Given the description of an element on the screen output the (x, y) to click on. 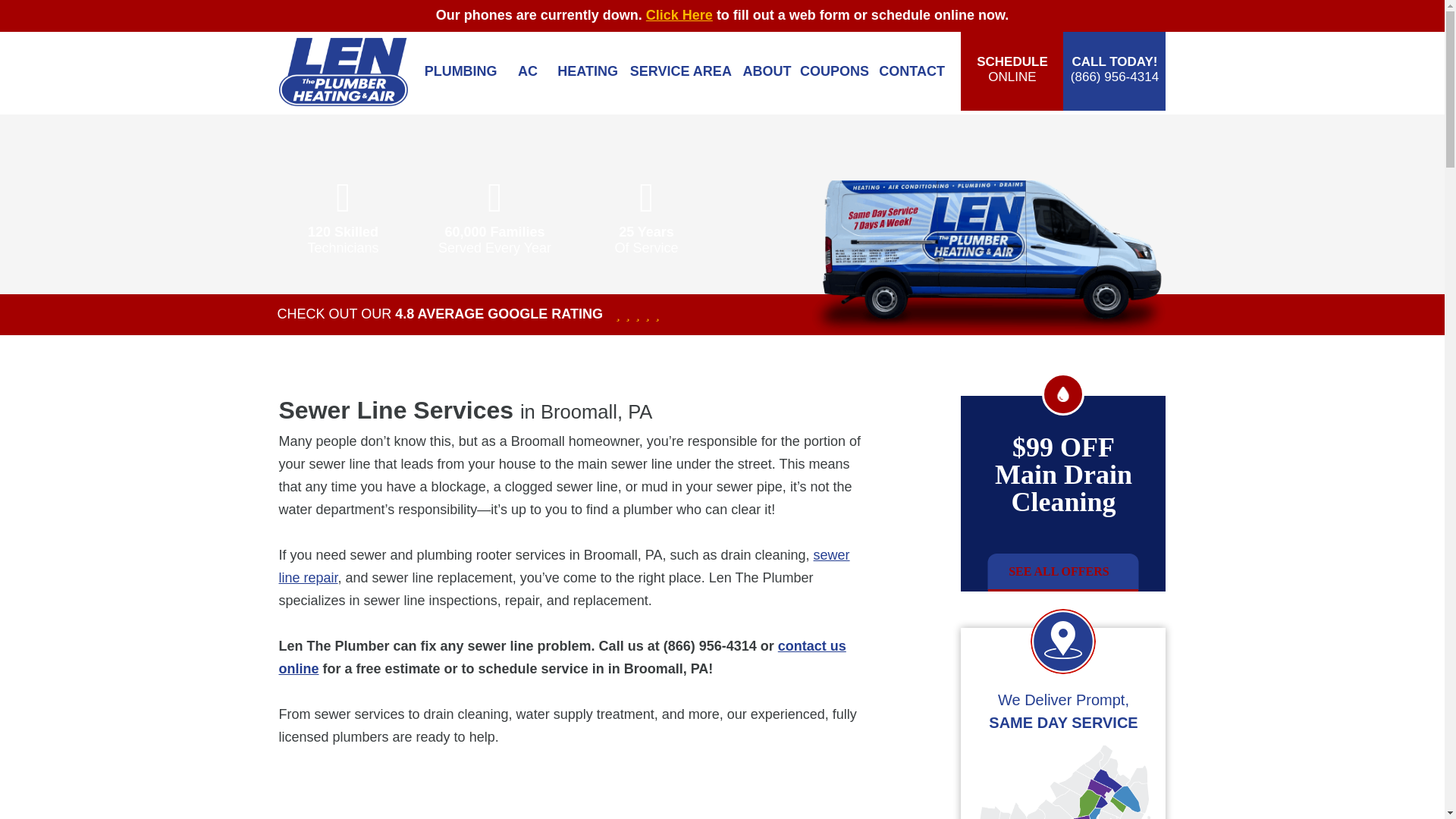
AC (528, 71)
Same Day Service  (358, 13)
Len The Plumber (343, 70)
Click Here (679, 14)
submit (969, 14)
PLUMBING (460, 71)
Read our reviews (631, 314)
submit (969, 14)
submit (969, 14)
Read our reviews (440, 314)
Save Today (358, 13)
